Given the description of an element on the screen output the (x, y) to click on. 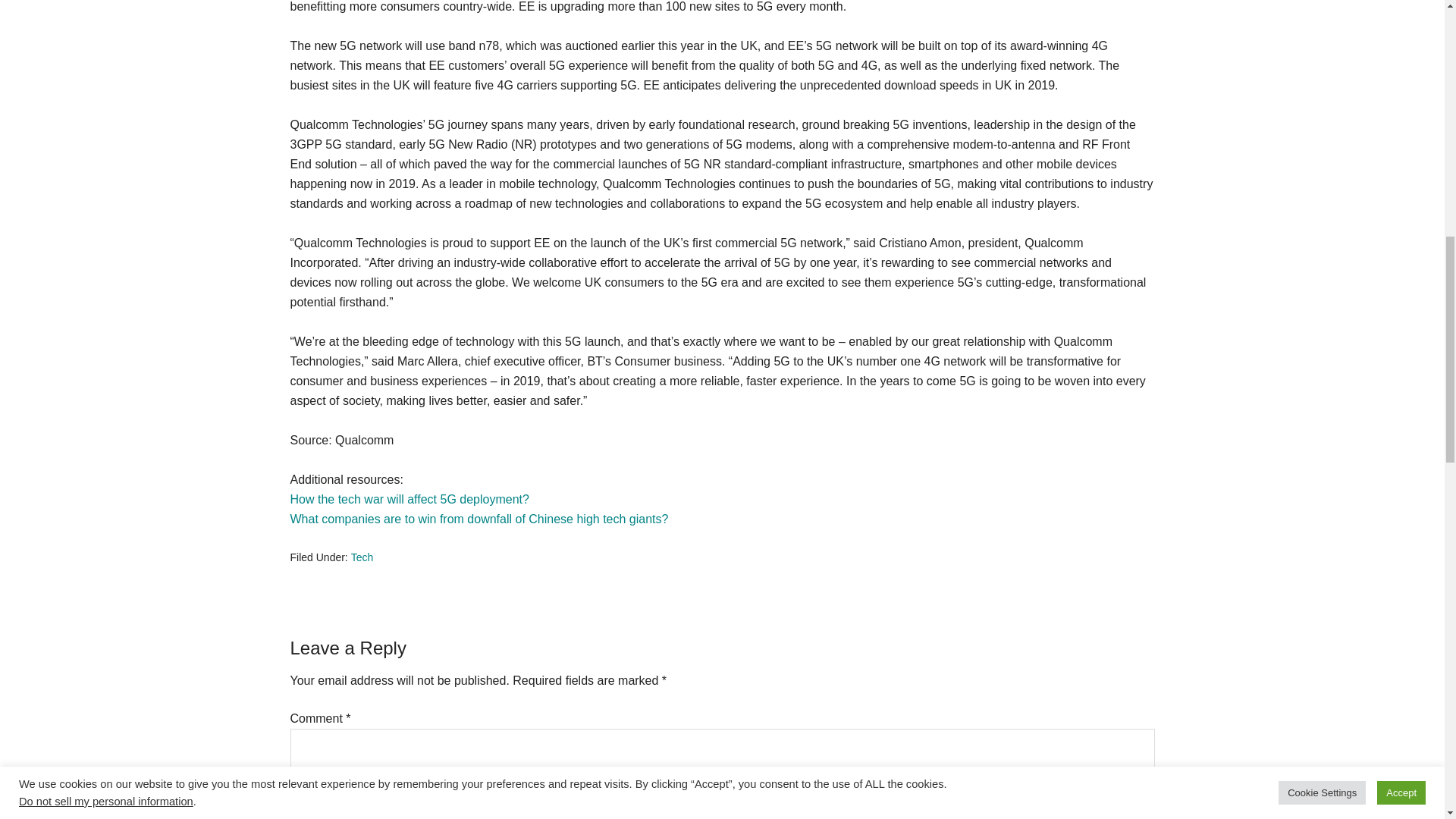
How the tech war will affect 5G deployment? (408, 499)
Tech (362, 557)
